Given the description of an element on the screen output the (x, y) to click on. 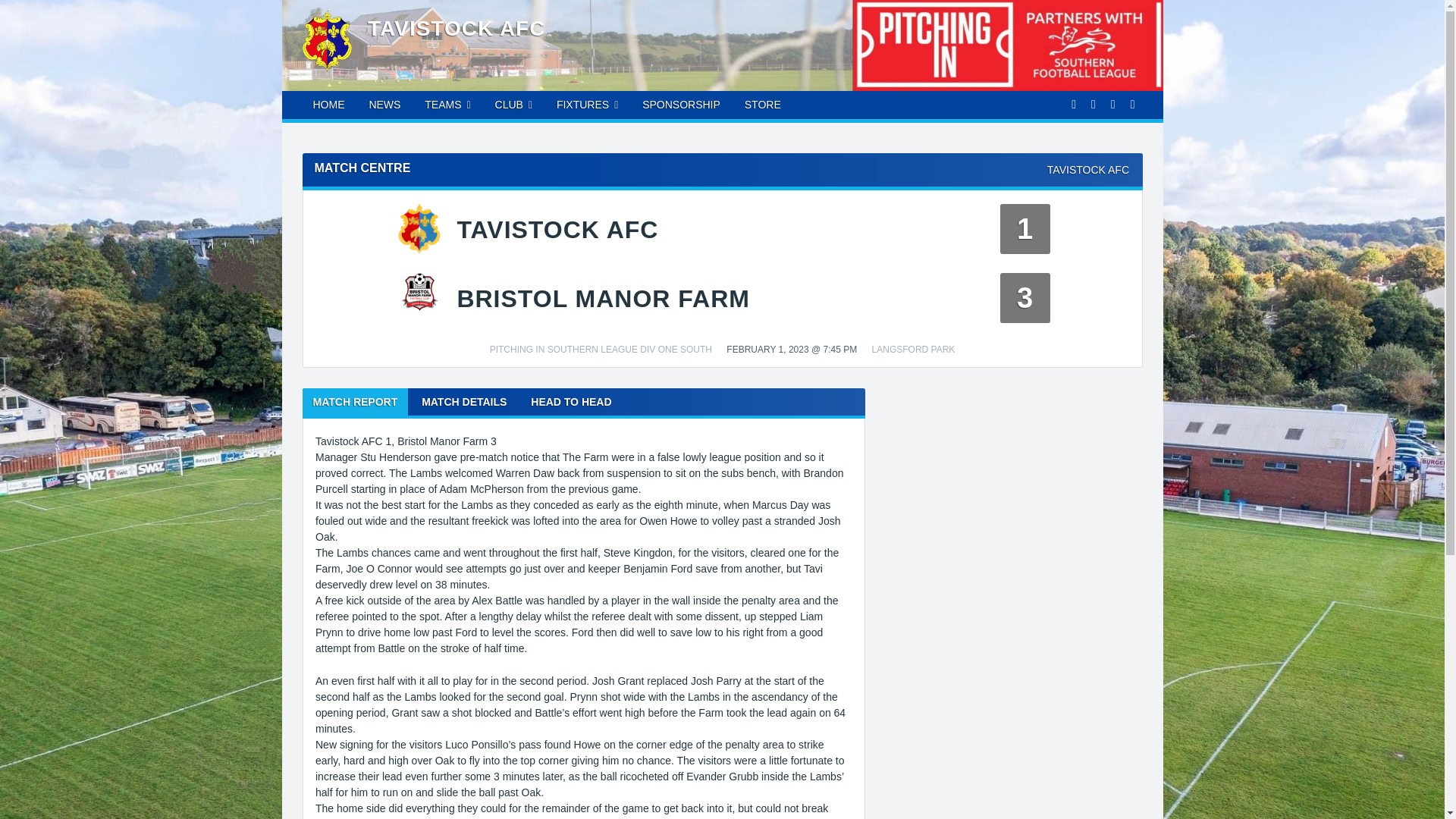
HOME (328, 103)
TEAMS (446, 104)
FIXTURES (587, 104)
MATCH DETAILS (463, 401)
HEAD TO HEAD (570, 401)
NEWS (384, 103)
SPONSORSHIP (680, 103)
MATCH REPORT (354, 401)
CLUB (513, 104)
Tavistock AFC (456, 28)
STORE (762, 103)
TAVISTOCK AFC (456, 28)
